Given the description of an element on the screen output the (x, y) to click on. 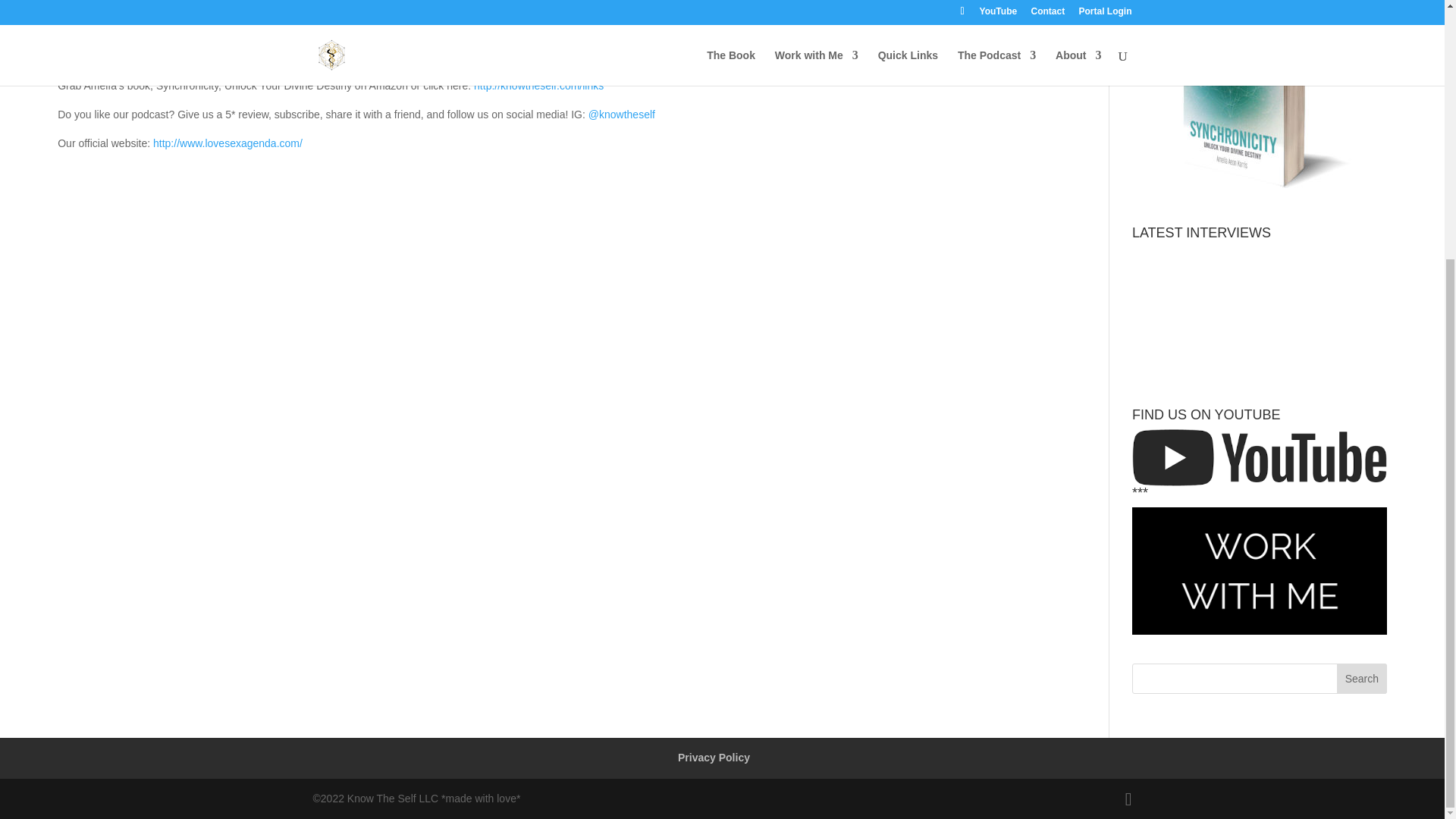
Privacy Policy (713, 757)
Search (1361, 678)
Search (1361, 678)
